Given the description of an element on the screen output the (x, y) to click on. 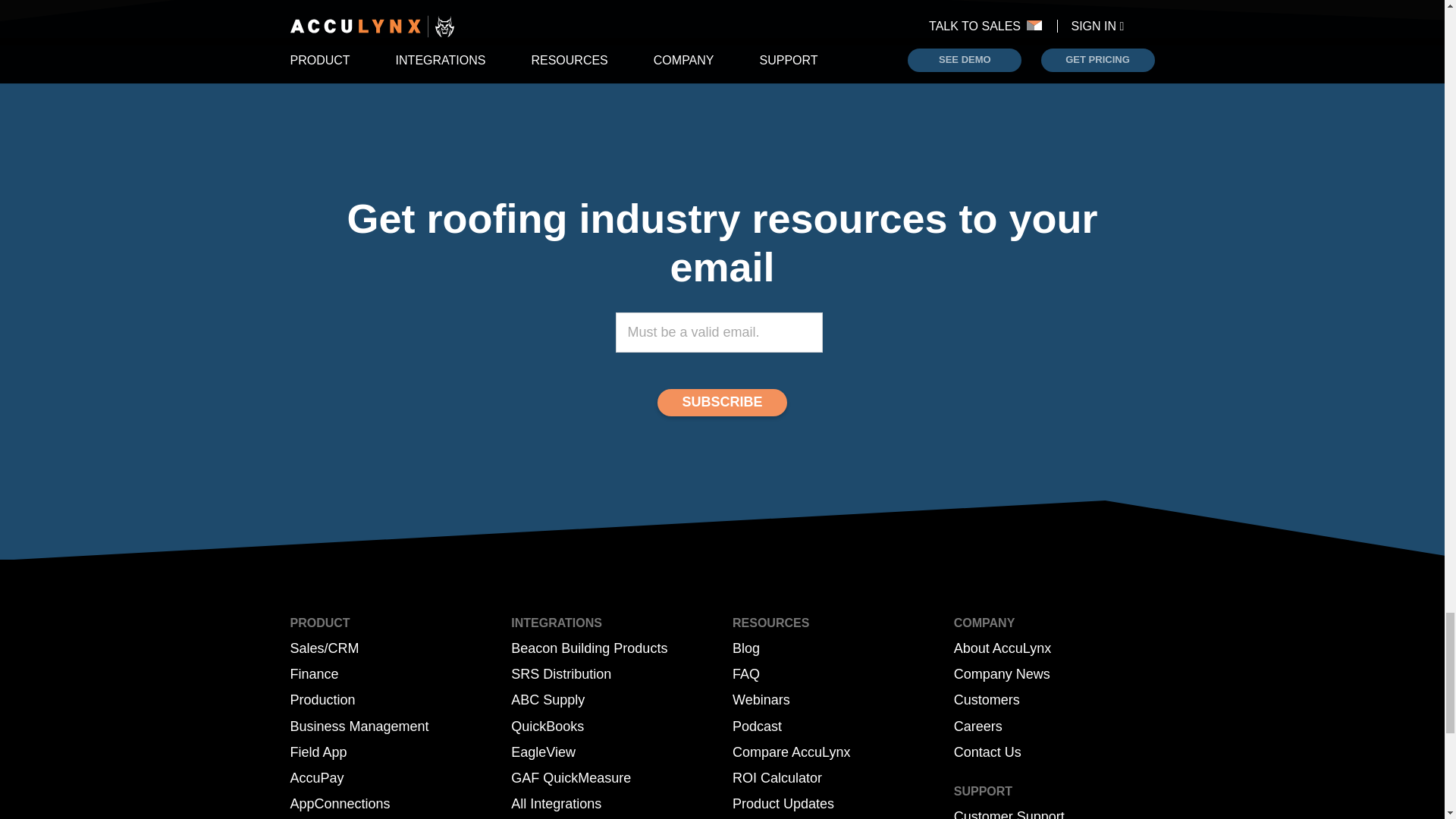
Subscribe (722, 402)
